Given the description of an element on the screen output the (x, y) to click on. 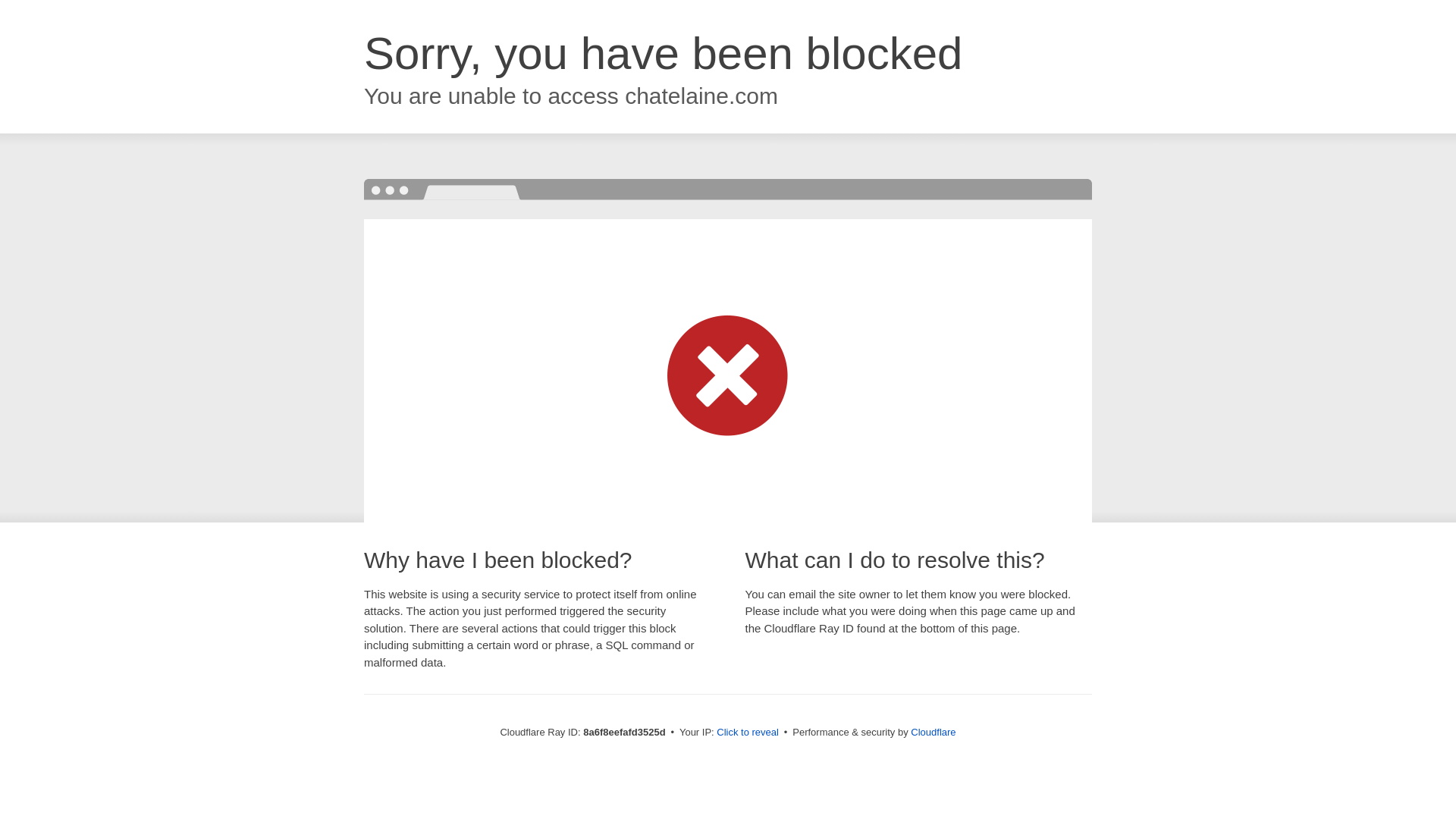
Cloudflare (933, 731)
Click to reveal (747, 732)
